Given the description of an element on the screen output the (x, y) to click on. 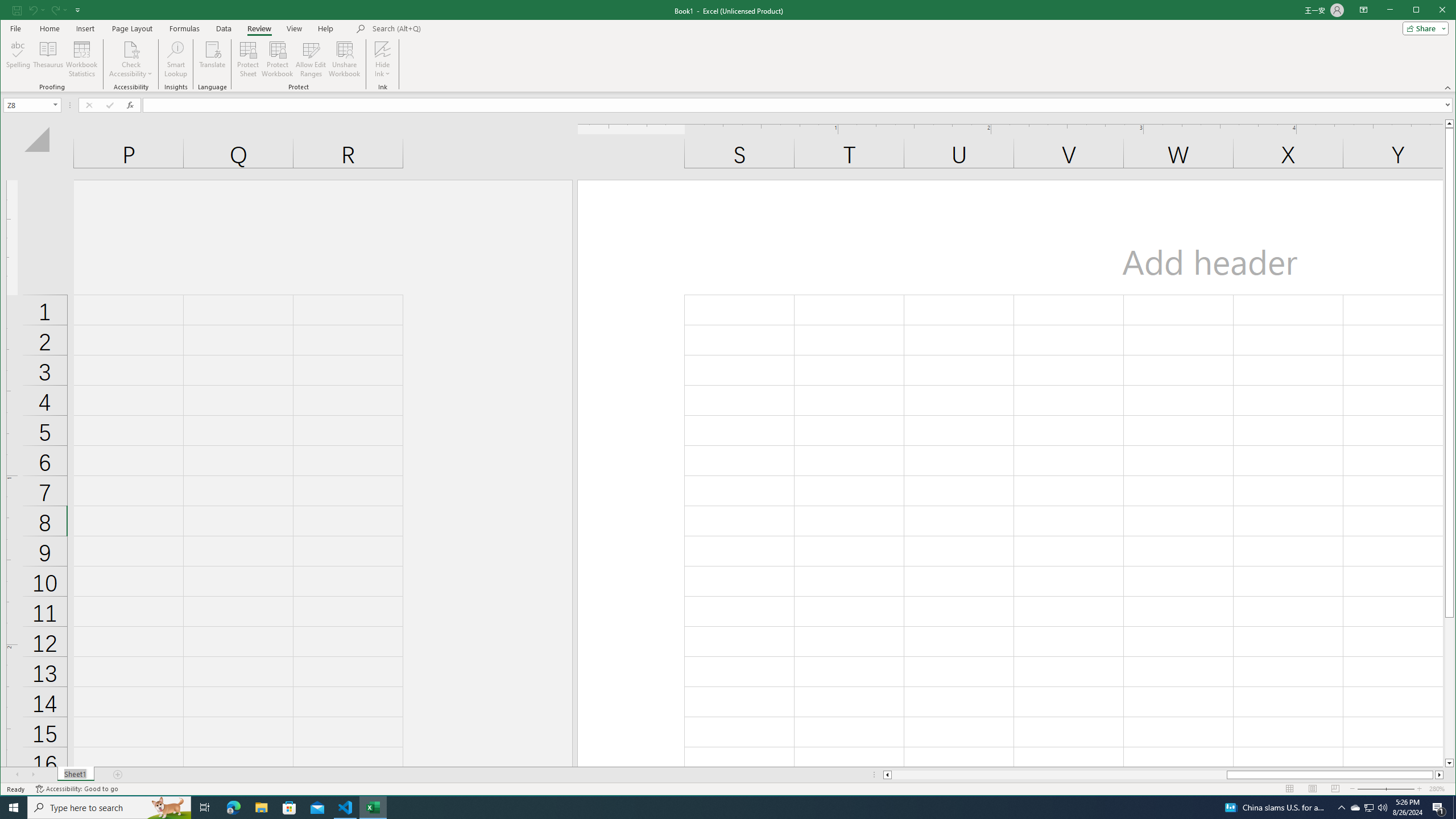
Class: MsoCommandBar (728, 45)
Visual Studio Code - 1 running window (345, 807)
Microsoft search (451, 28)
Microsoft Edge (233, 807)
